Given the description of an element on the screen output the (x, y) to click on. 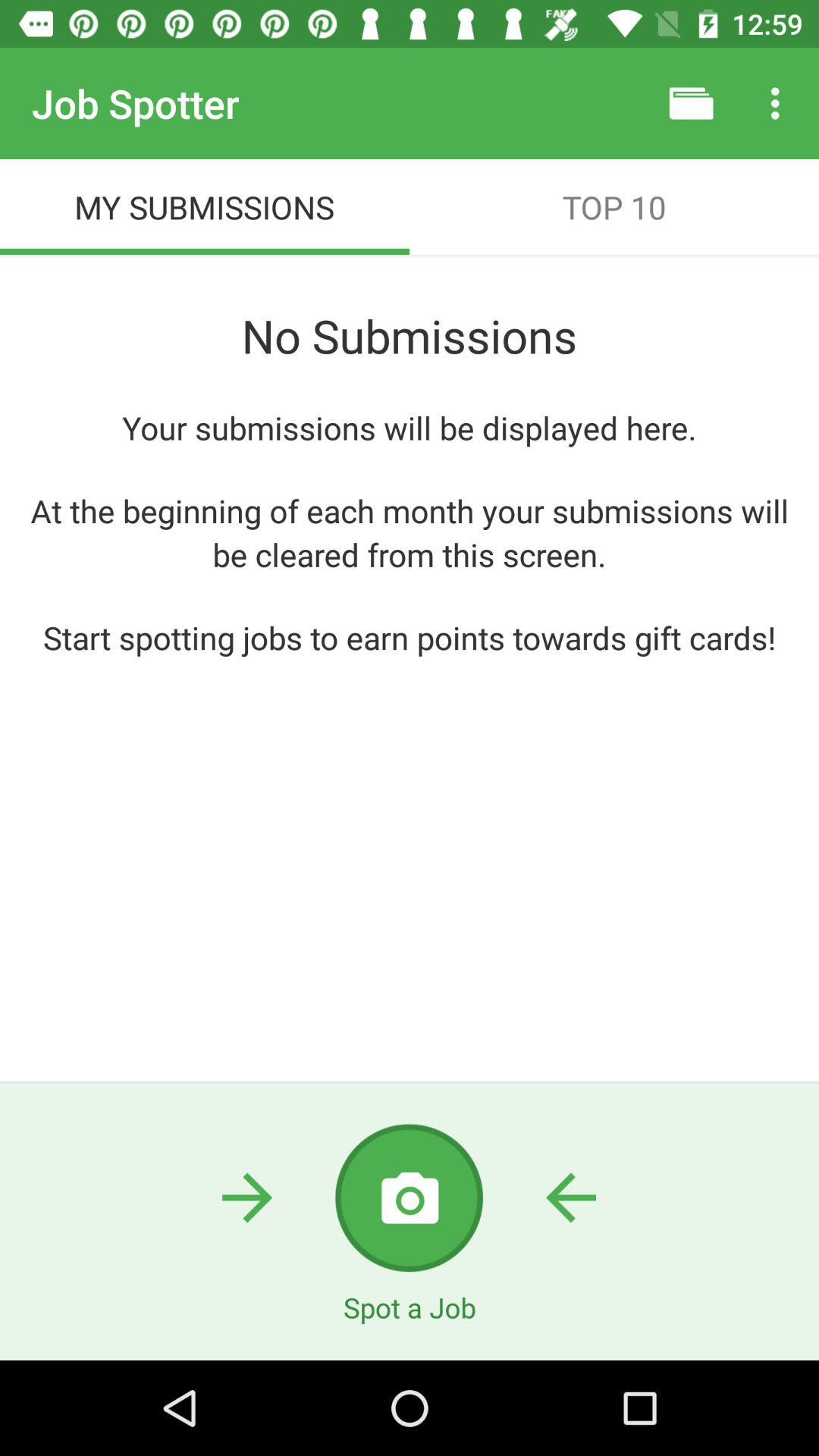
open item above the spot a job (409, 1197)
